Given the description of an element on the screen output the (x, y) to click on. 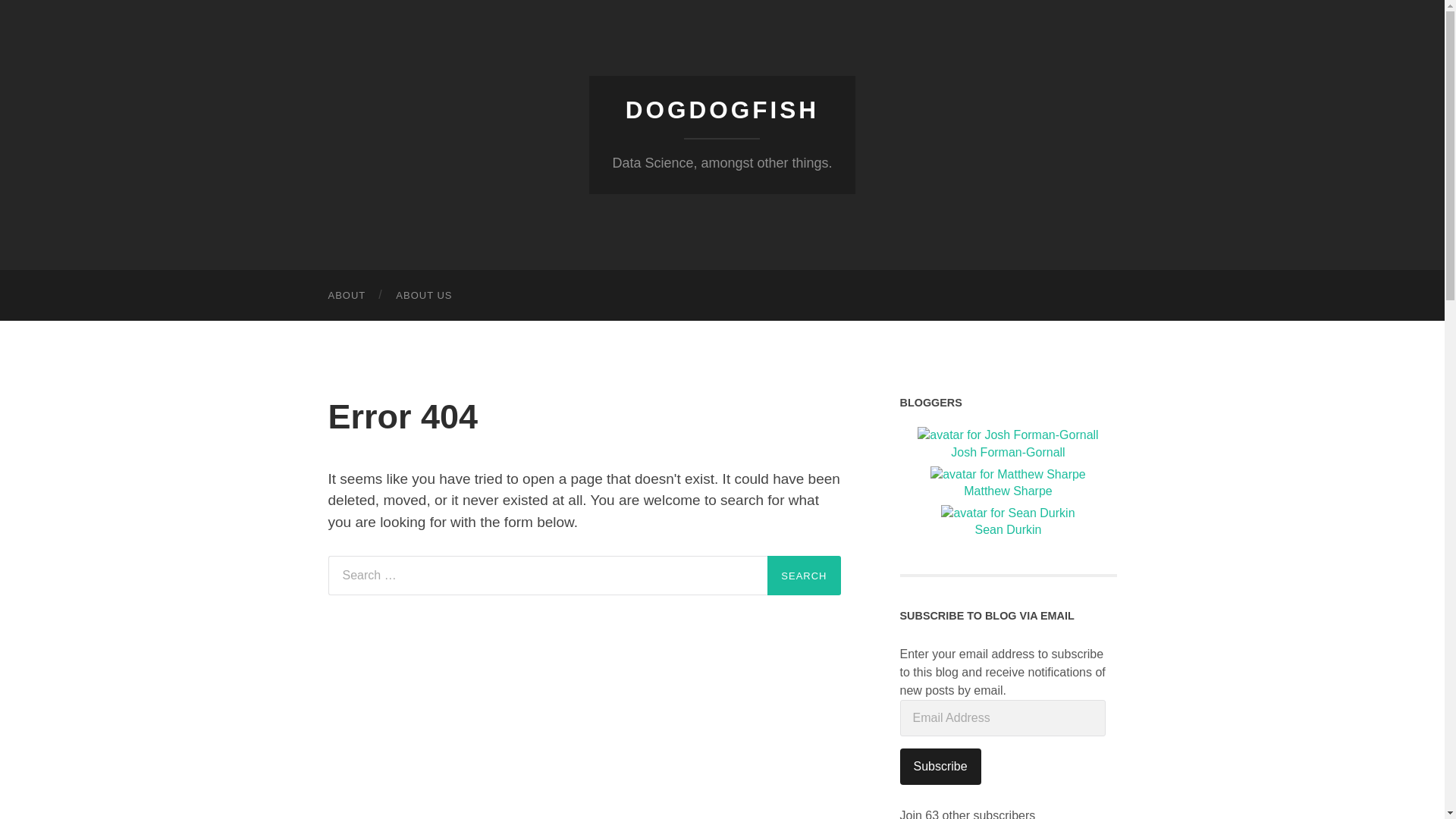
Sean Durkin (1008, 522)
Matthew Sharpe (1008, 483)
DOGDOGFISH (722, 109)
Search (803, 575)
ABOUT (346, 295)
Josh Forman-Gornall (1008, 444)
ABOUT US (423, 295)
Search (803, 575)
Matthew Sharpe (1008, 483)
Search (803, 575)
Sean Durkin (1008, 522)
Subscribe (939, 766)
Josh Forman-Gornall (1008, 444)
